Given the description of an element on the screen output the (x, y) to click on. 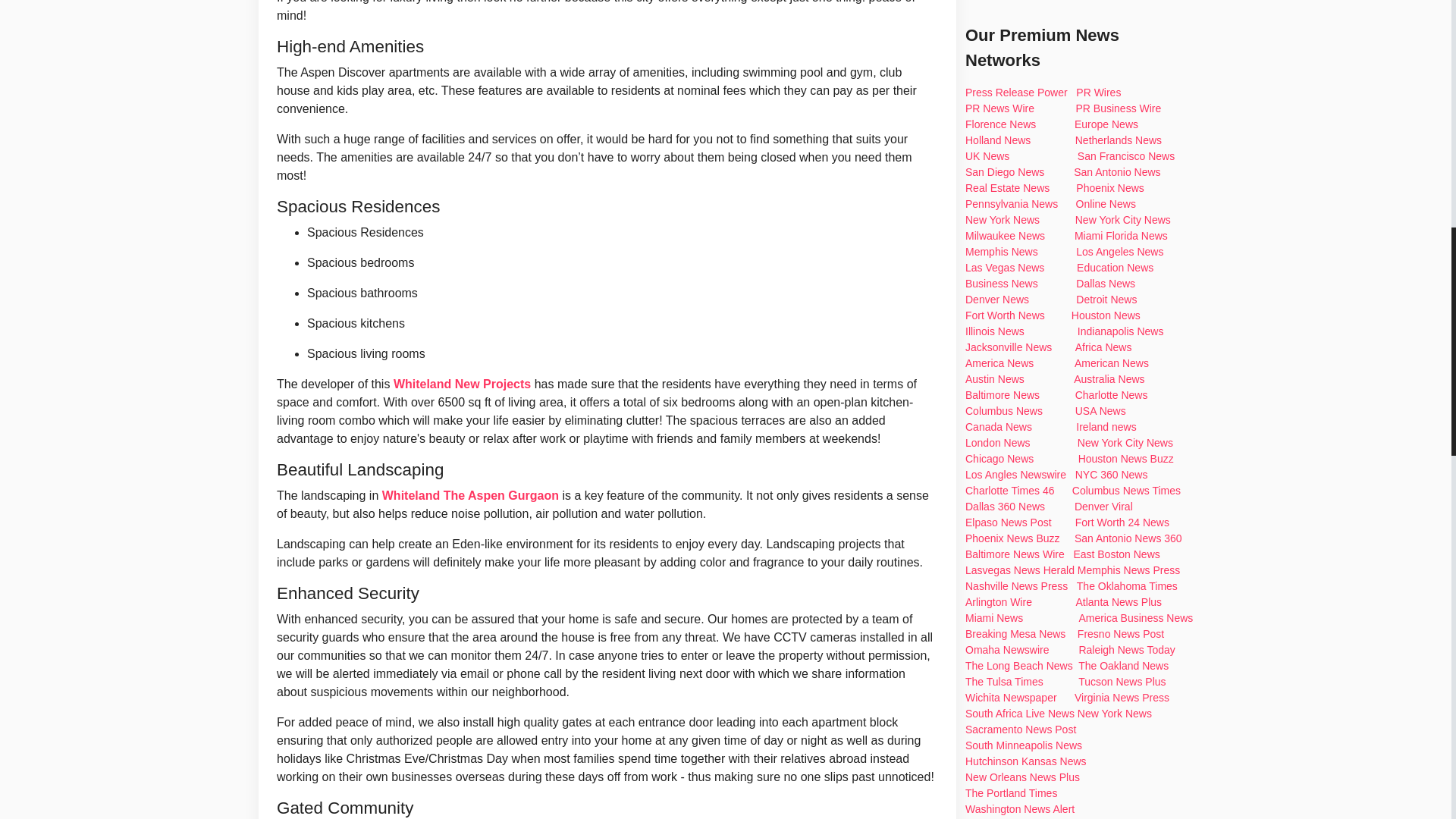
Whiteland The Aspen Gurgaon (470, 495)
Whiteland New Projects (462, 383)
